Given the description of an element on the screen output the (x, y) to click on. 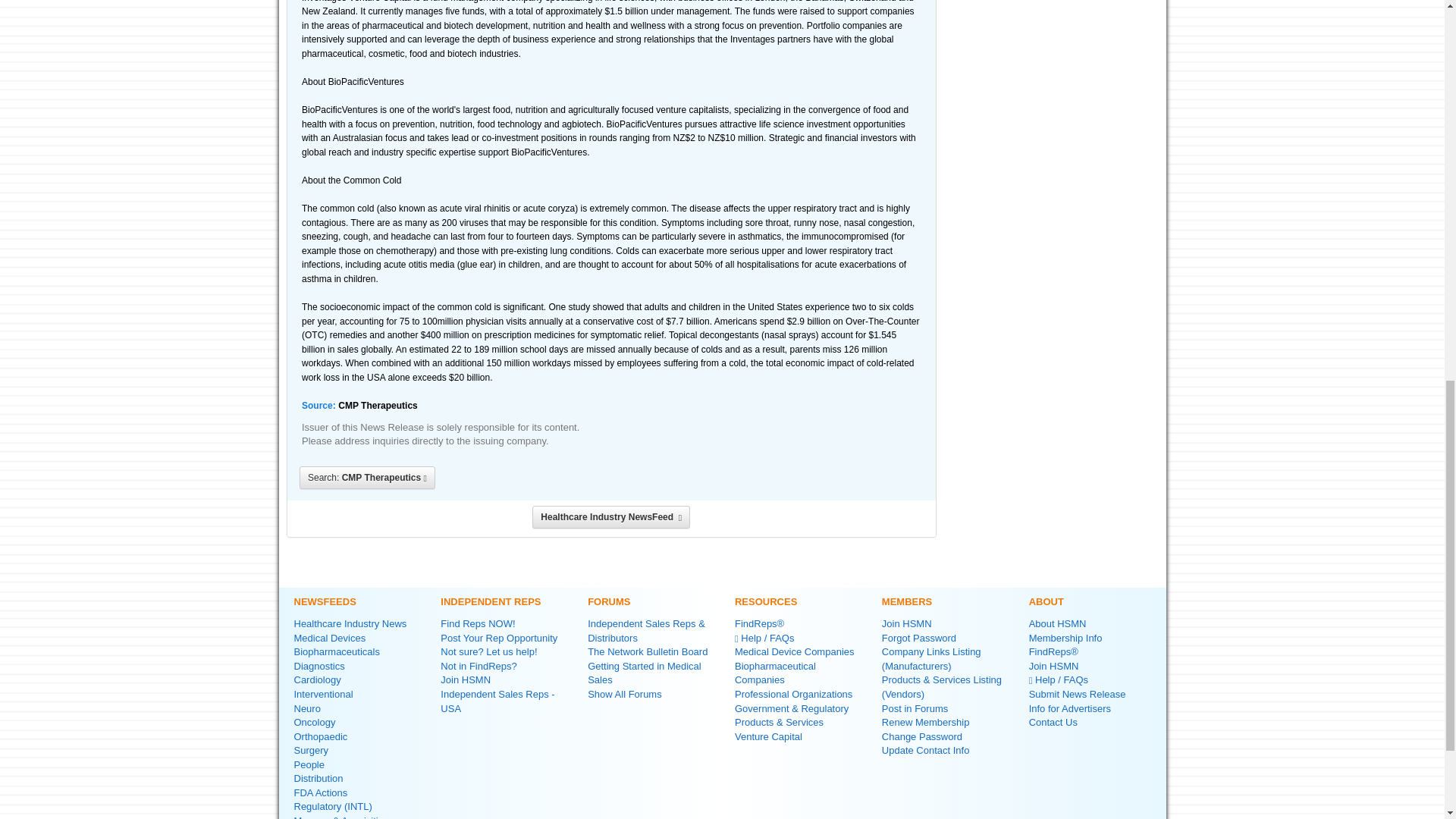
Advertisement (1054, 85)
